Given the description of an element on the screen output the (x, y) to click on. 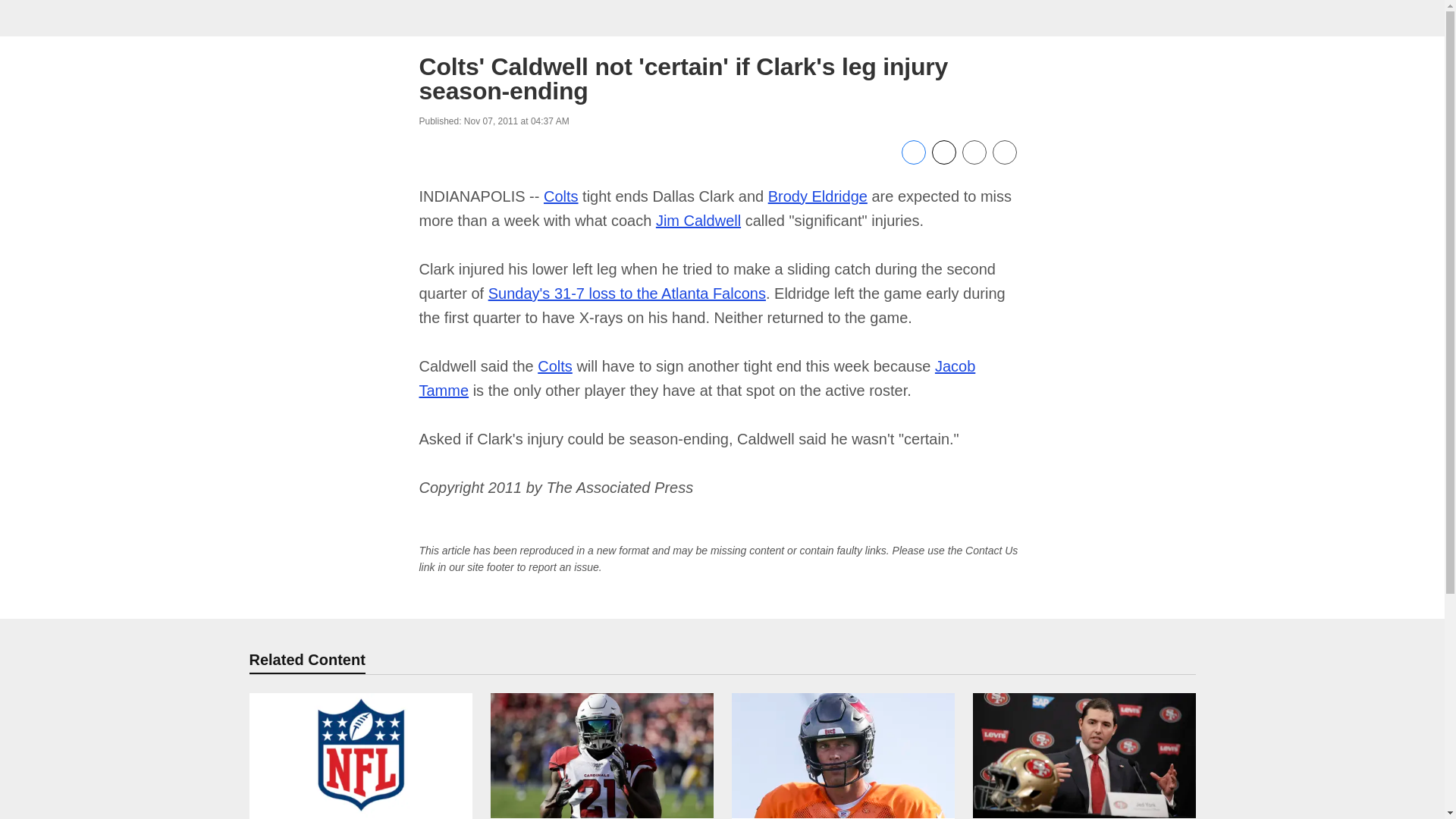
Share on Twitter (943, 160)
Send email (972, 160)
Colts (554, 365)
Cardinals star CB Patrick Peterson set to play out contract (601, 755)
Bears, Saints loomed under the radar in pursuit of Tom Brady (841, 755)
Jacob Tamme (697, 377)
Copy link (1003, 153)
Share on Facebook (912, 160)
Brody Eldridge (817, 196)
